Given the description of an element on the screen output the (x, y) to click on. 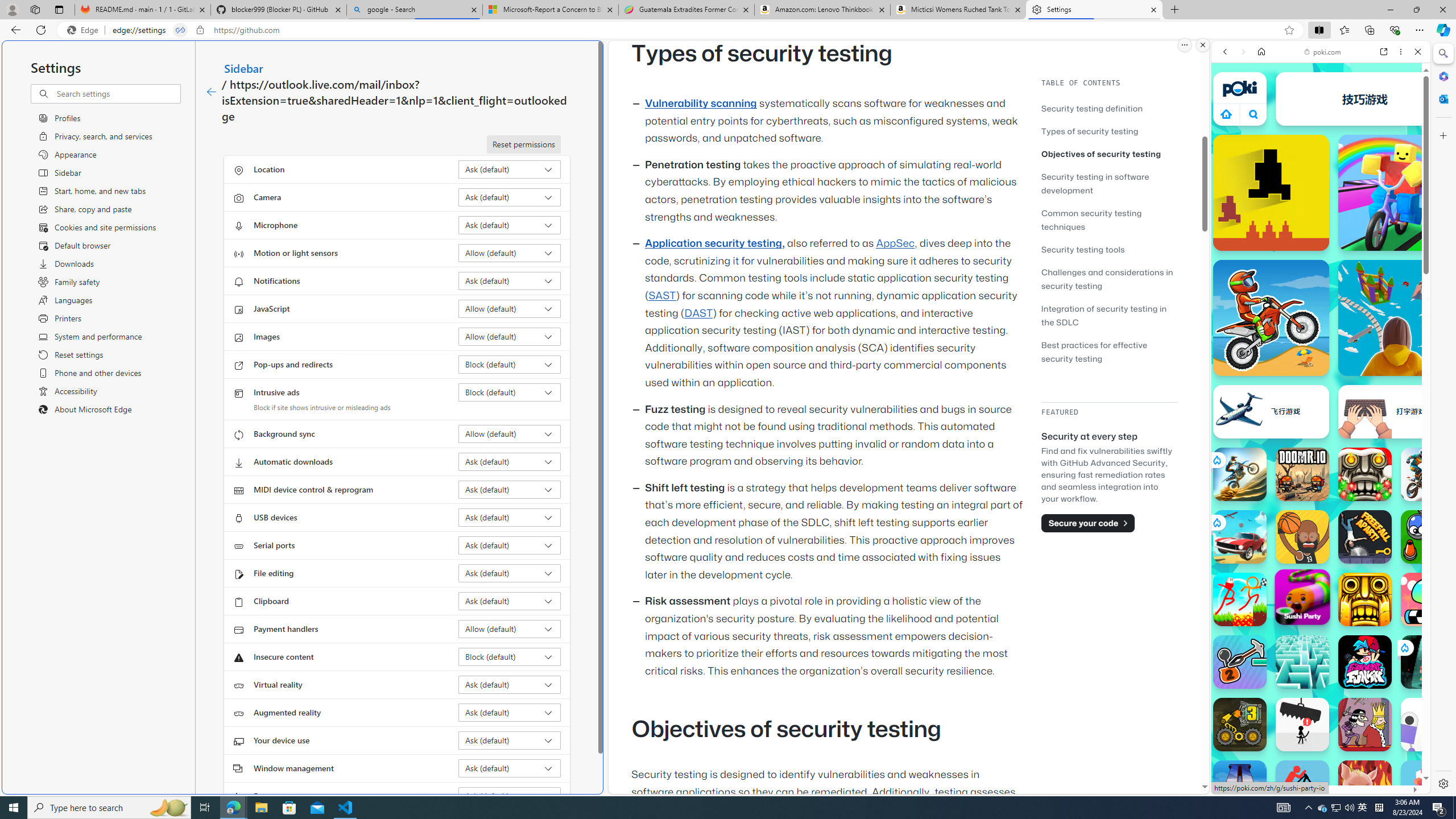
Combat Reloaded Combat Reloaded poki.com (1349, 548)
IMAGES (1262, 130)
Temple Run 2: Frozen Festival (1364, 474)
Show More Two Player Games (1390, 323)
SimplyUp.io (1396, 317)
Close tab (1153, 9)
Web scope (1230, 102)
Avoid Dying (1302, 724)
Stickman Parkour 3 Stickman Parkour 3 (1239, 599)
Dunkers 2 (1302, 536)
Refresh (40, 29)
BoxRob 3 BoxRob 3 (1239, 724)
Rainbow Obby Rainbow Obby (1396, 192)
